Given the description of an element on the screen output the (x, y) to click on. 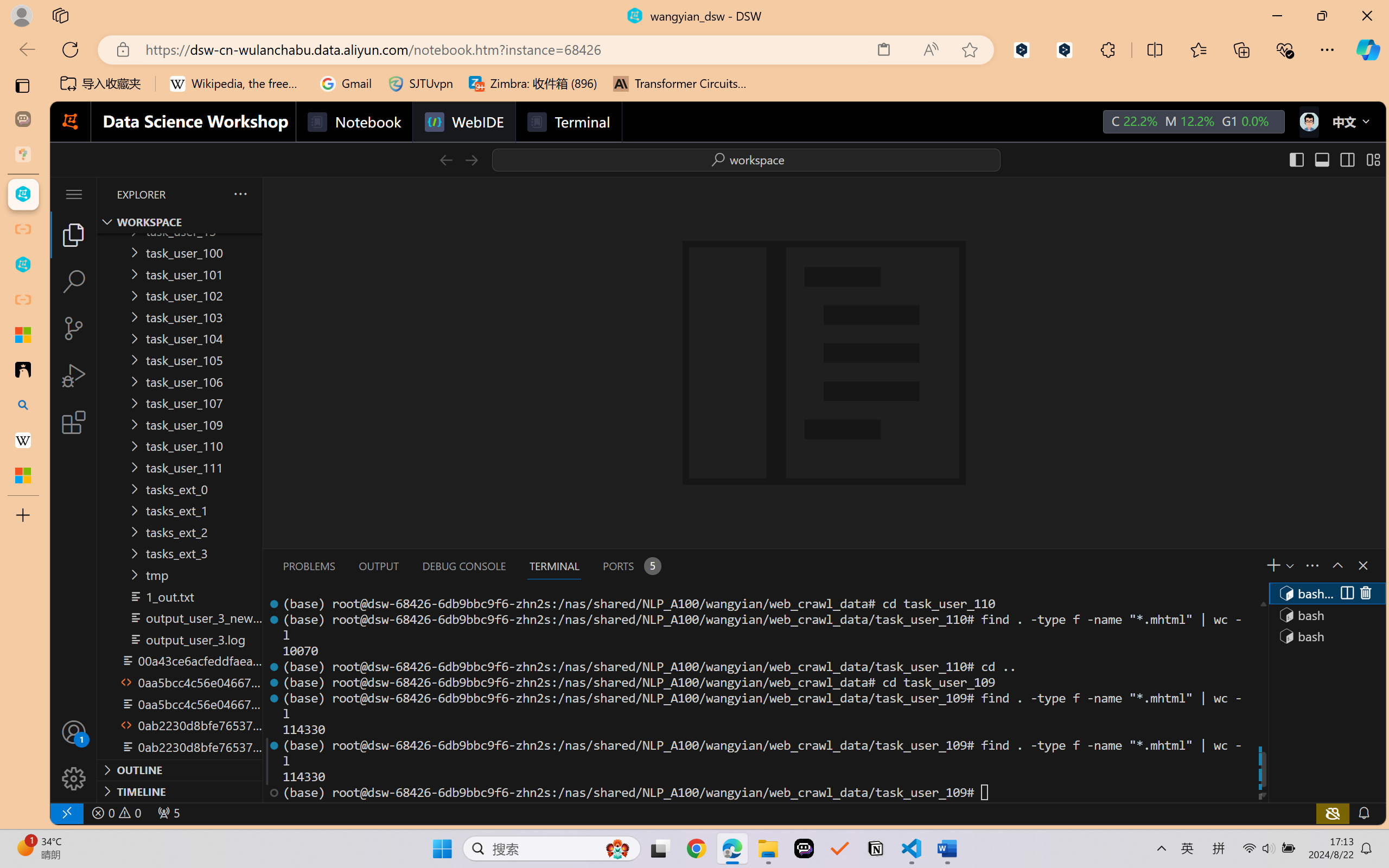
Timeline Section (179, 791)
Terminal (Ctrl+`) (553, 565)
Class: xterm-decoration-overview-ruler (1262, 697)
Explorer actions (211, 194)
Notifications (1363, 812)
Go Back (Alt+LeftArrow) (445, 159)
Transformer Circuits Thread (680, 83)
Run and Debug (Ctrl+Shift+D) (73, 375)
icon (1308, 119)
SJTUvpn (419, 83)
